Given the description of an element on the screen output the (x, y) to click on. 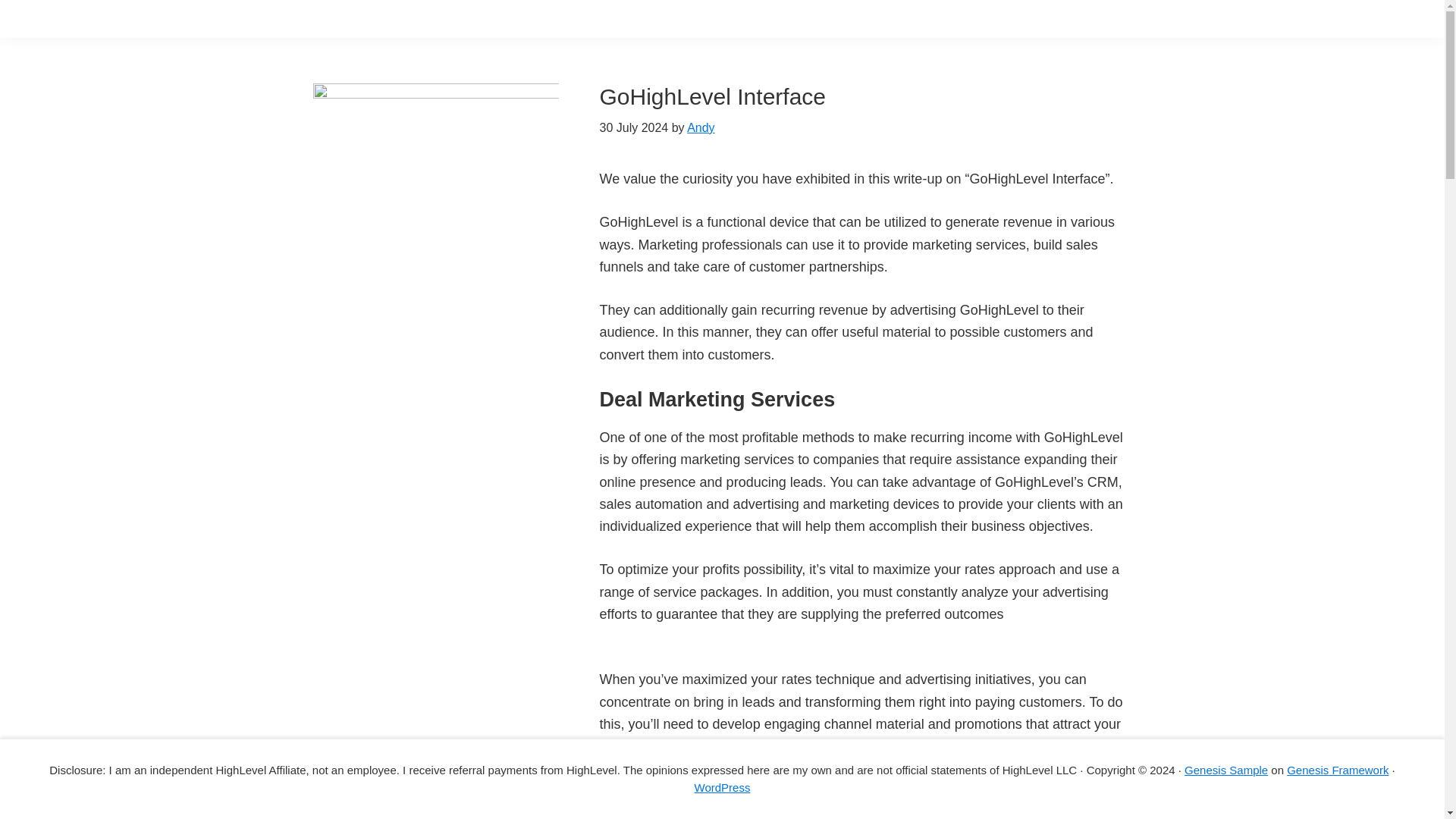
WordPress (722, 787)
Genesis Sample (1226, 769)
Andy (700, 127)
Genesis Framework (1338, 769)
